Given the description of an element on the screen output the (x, y) to click on. 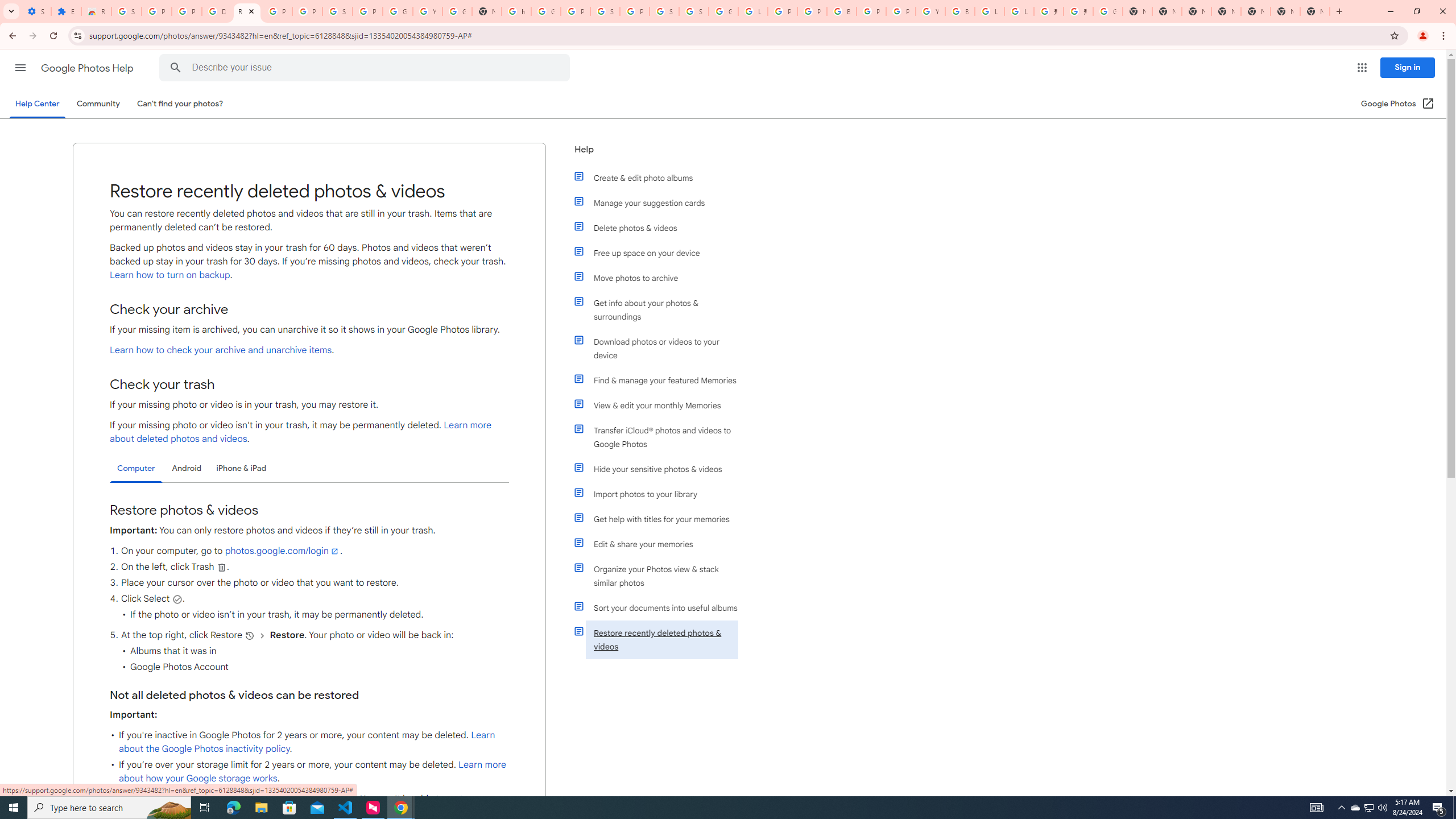
Privacy Help Center - Policies Help (811, 11)
photos.google.com/login (282, 550)
Get info about your photos & surroundings (661, 309)
